Given the description of an element on the screen output the (x, y) to click on. 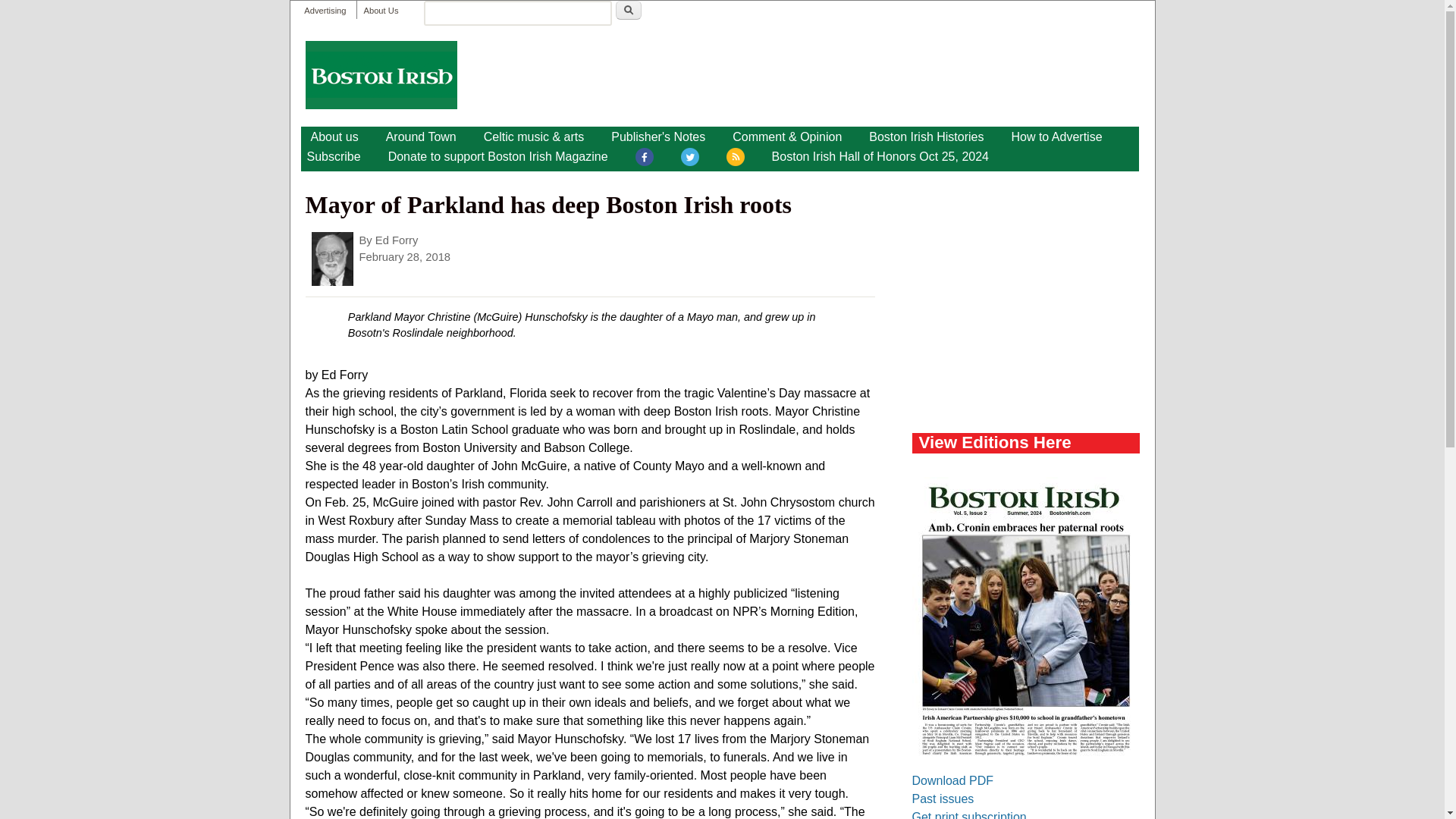
Boston Irish Reporter RSS feed (735, 159)
Boston Irish Reporter on Twitter (689, 159)
About Boston Irish (334, 136)
Donate to support Boston Irish Magazine (497, 157)
Enter the terms you wish to search for. (517, 12)
Boston Irish Histories (926, 136)
By BI Magazine staff (421, 136)
Download PDF (951, 780)
Search (628, 9)
Subscribe (332, 157)
Get print subscription (968, 814)
Search (628, 9)
Publisher's Notes (658, 136)
How to Advertise (1056, 136)
